Given the description of an element on the screen output the (x, y) to click on. 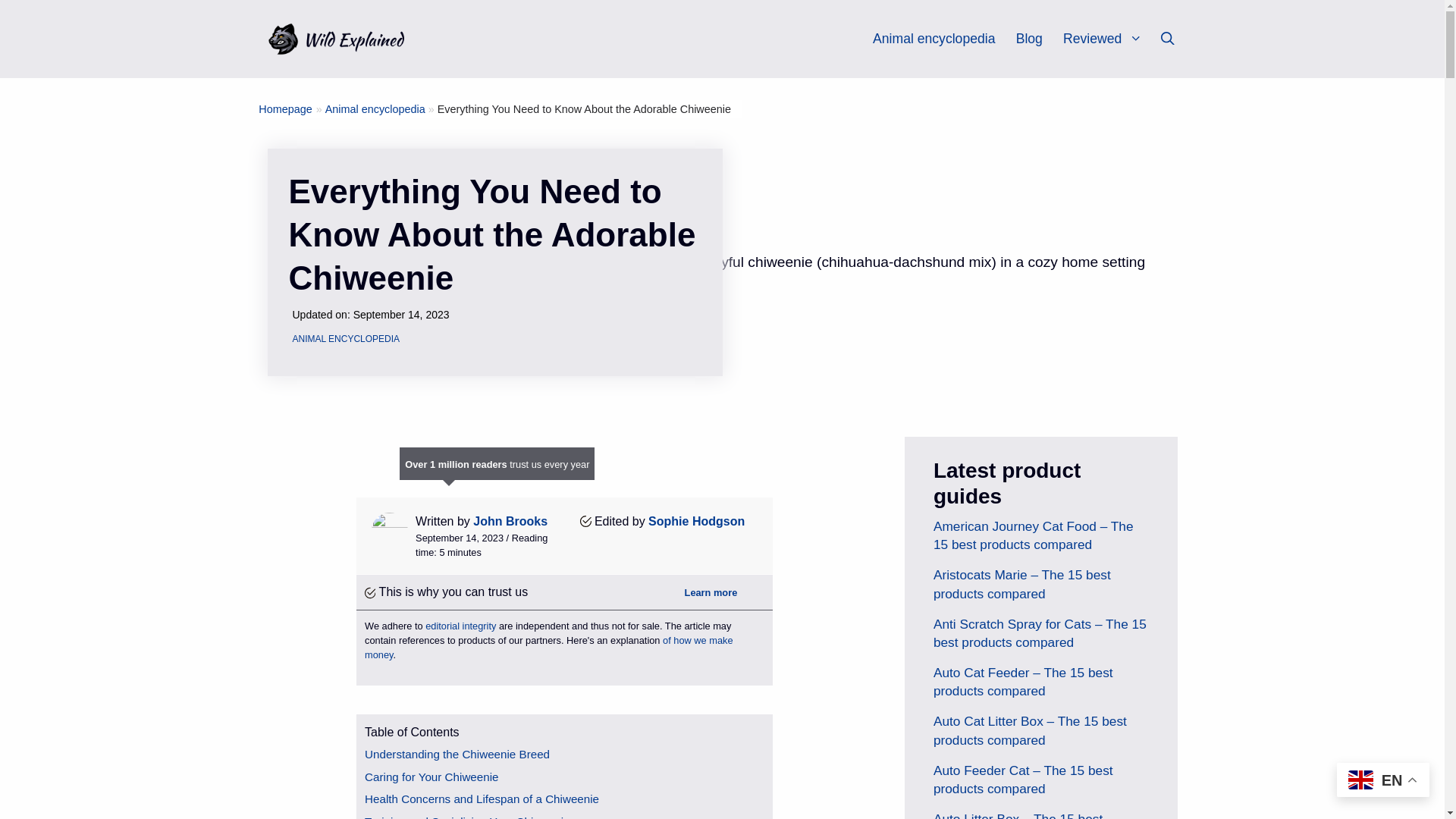
Reviewed (1108, 39)
Category Name (374, 109)
Animal encyclopedia (933, 39)
Author-Name (695, 521)
Everything You Need to Know About the Adorable Chiweenie (584, 109)
Author-Name (510, 521)
